Given the description of an element on the screen output the (x, y) to click on. 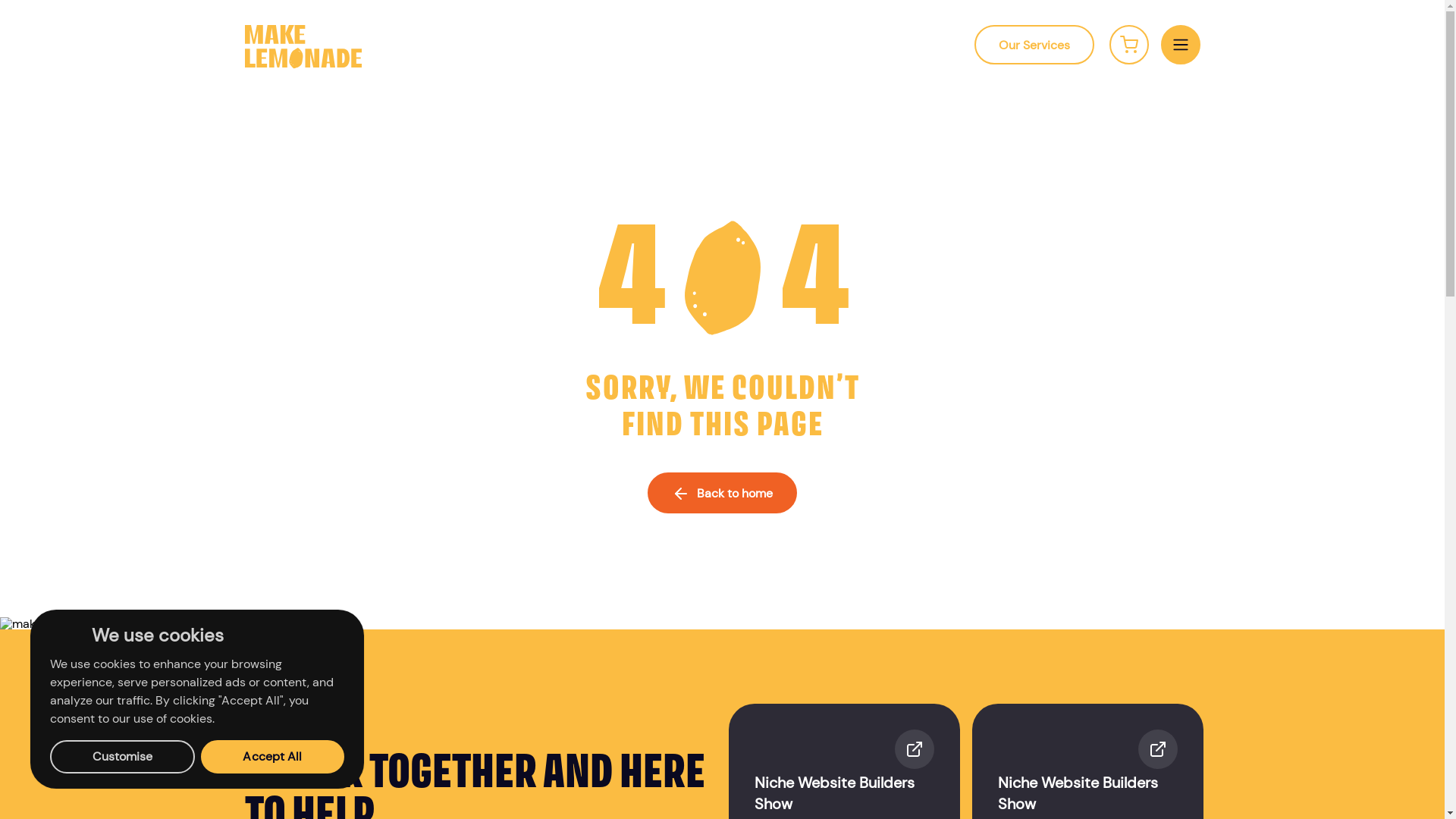
Back to home Element type: text (722, 492)
Our Services Element type: text (1033, 44)
Customise Element type: text (122, 756)
Accept All Element type: text (272, 756)
Make Lemonade Element type: hover (302, 63)
